Given the description of an element on the screen output the (x, y) to click on. 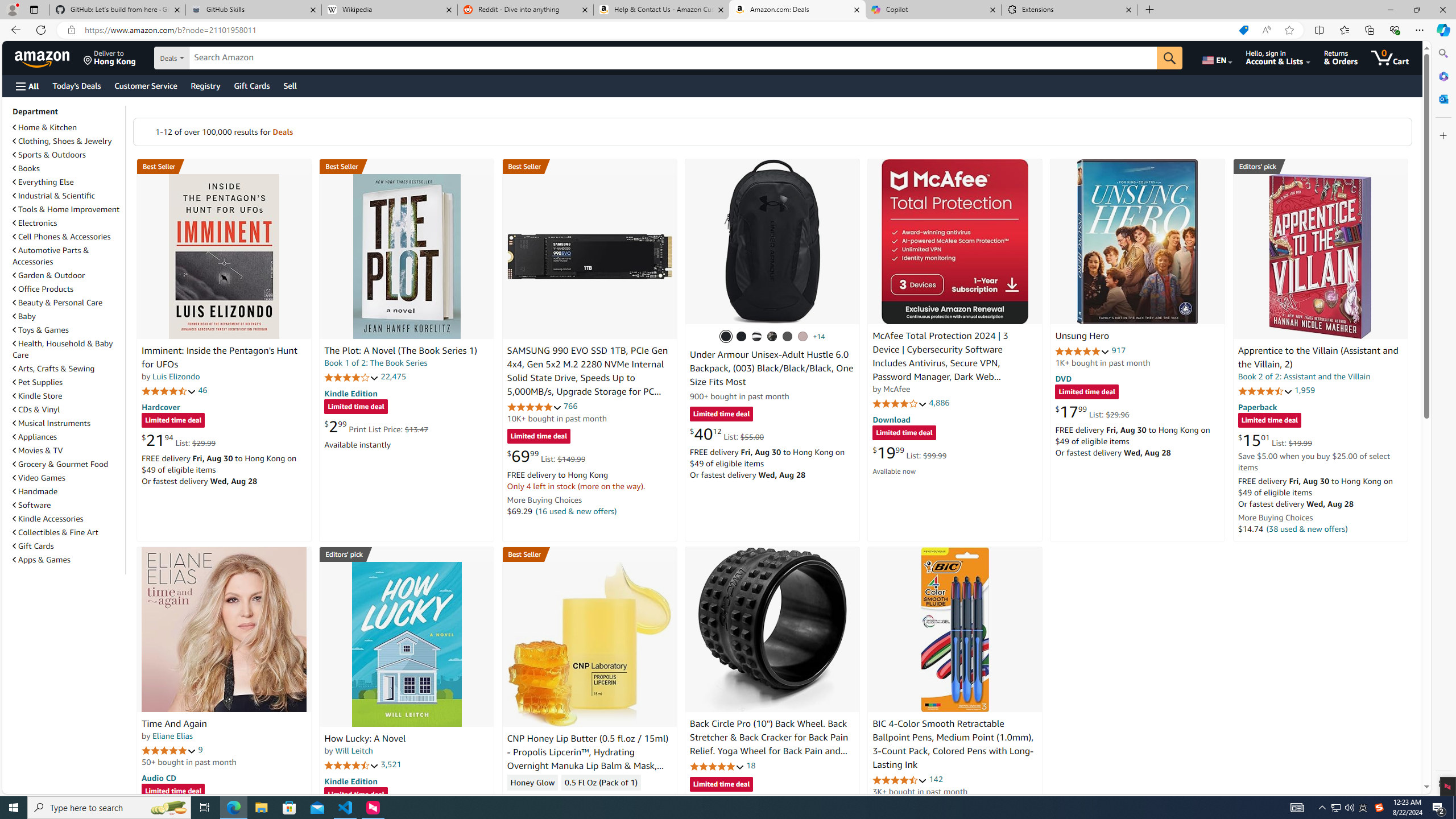
Sports & Outdoors (67, 154)
Extensions (1068, 9)
Reddit - Dive into anything (525, 9)
4.9 out of 5 stars (1082, 351)
(38 used & new offers) (1307, 528)
Paperback (1256, 406)
(16 used & new offers) (576, 511)
DVD (1063, 378)
4.3 out of 5 stars (534, 799)
